Given the description of an element on the screen output the (x, y) to click on. 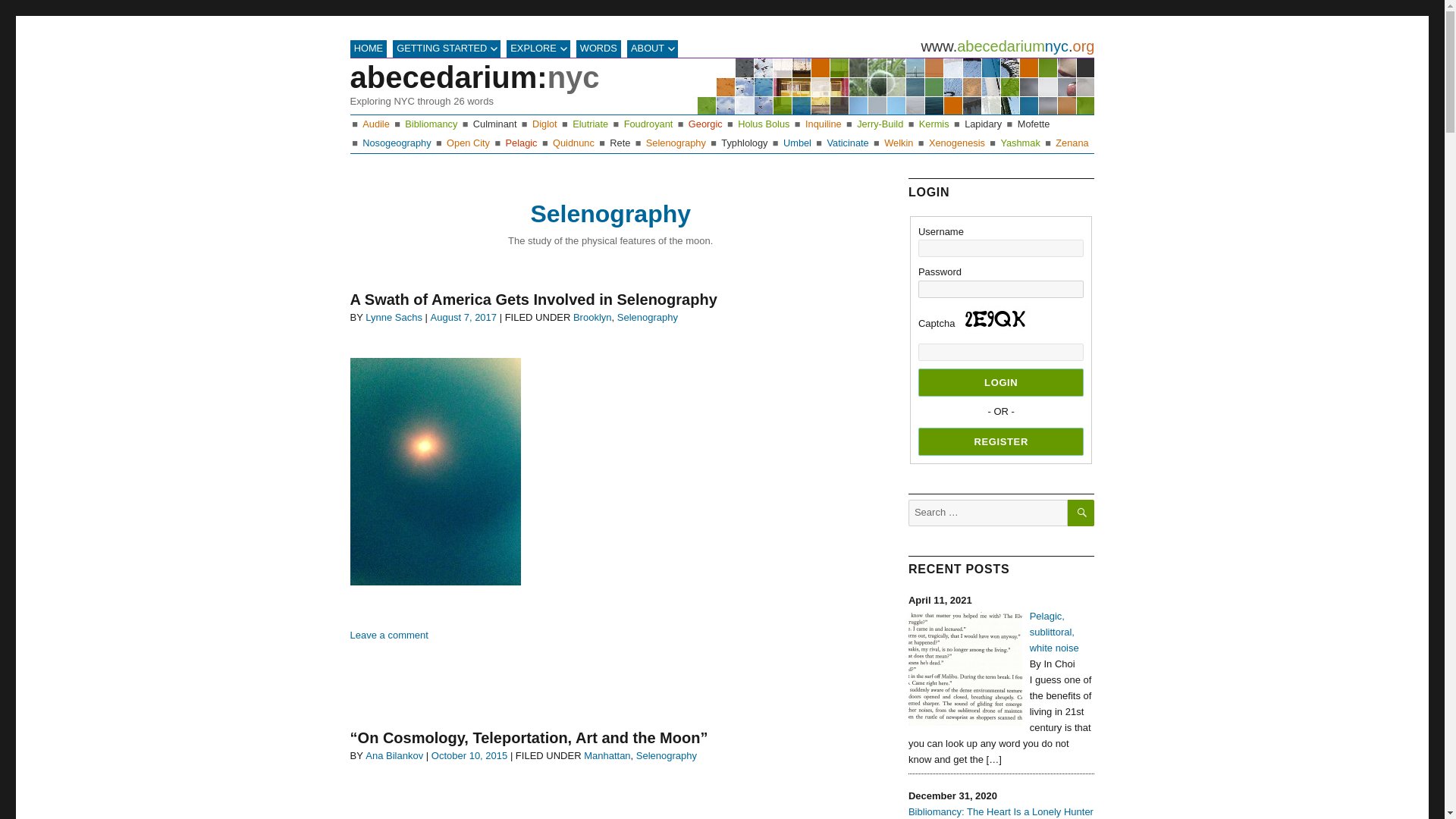
Jerry-Build (879, 123)
REGISTER (1001, 441)
Foudroyant (648, 123)
Dazzling or stunning in effect. (648, 123)
Inquiline (823, 123)
Nosogeography (396, 142)
A person who thinks in sounds rather than images. (376, 123)
www.abecedariumnyc.org (1007, 45)
Holus Bolus (763, 123)
WORDS (598, 48)
Bibliomancy (430, 123)
Being at the highest point. (494, 123)
GETTING STARTED (446, 48)
Mofette (1033, 123)
All at once. (763, 123)
